Given the description of an element on the screen output the (x, y) to click on. 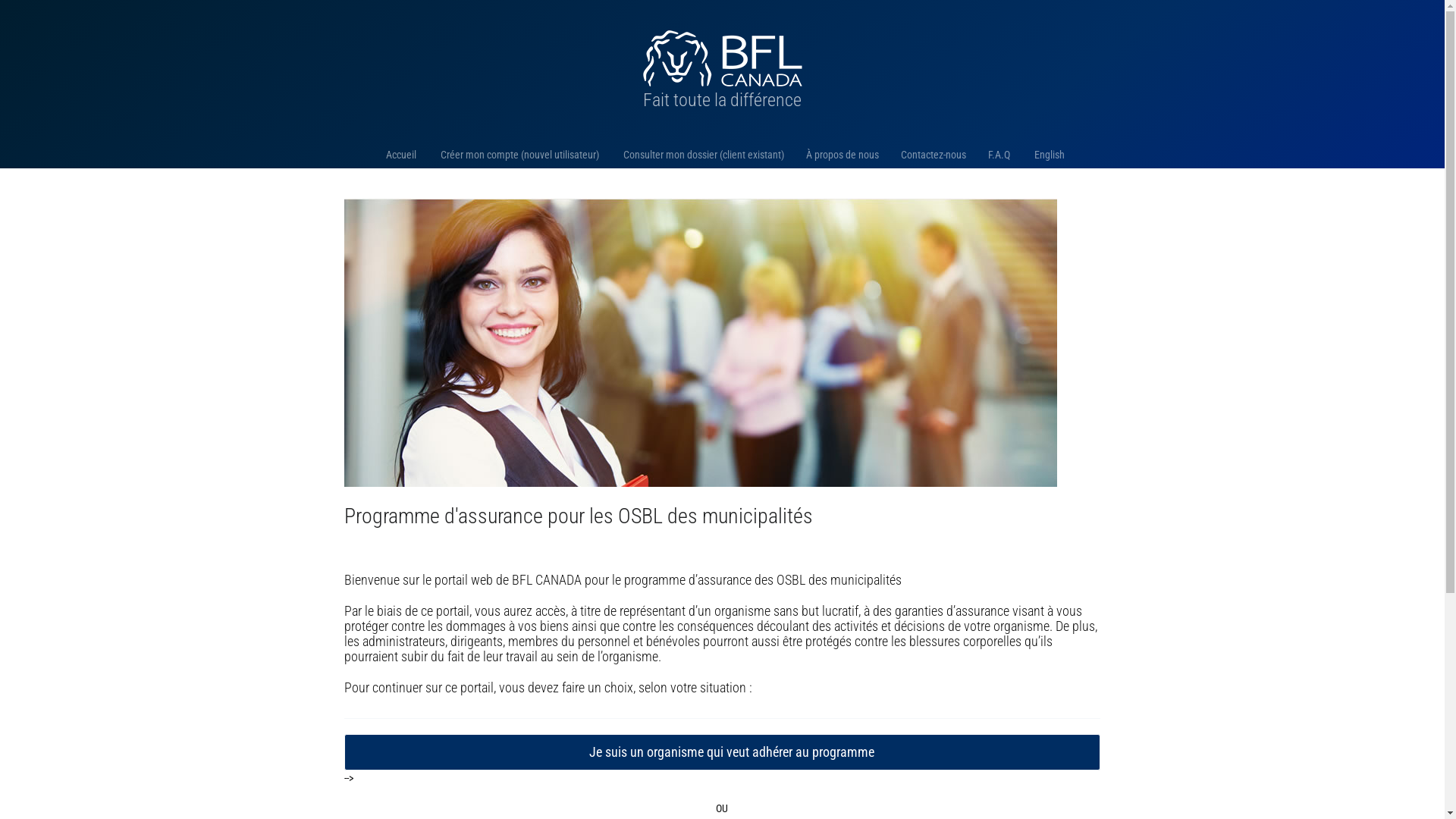
 Accueil Element type: text (397, 155)
Contactez-nous Element type: text (931, 155)
Skip Content Element type: text (15, 7)
 Consulter mon dossier (client existant) Element type: text (700, 155)
F.A.Q Element type: text (997, 155)
 English Element type: text (1046, 155)
